Given the description of an element on the screen output the (x, y) to click on. 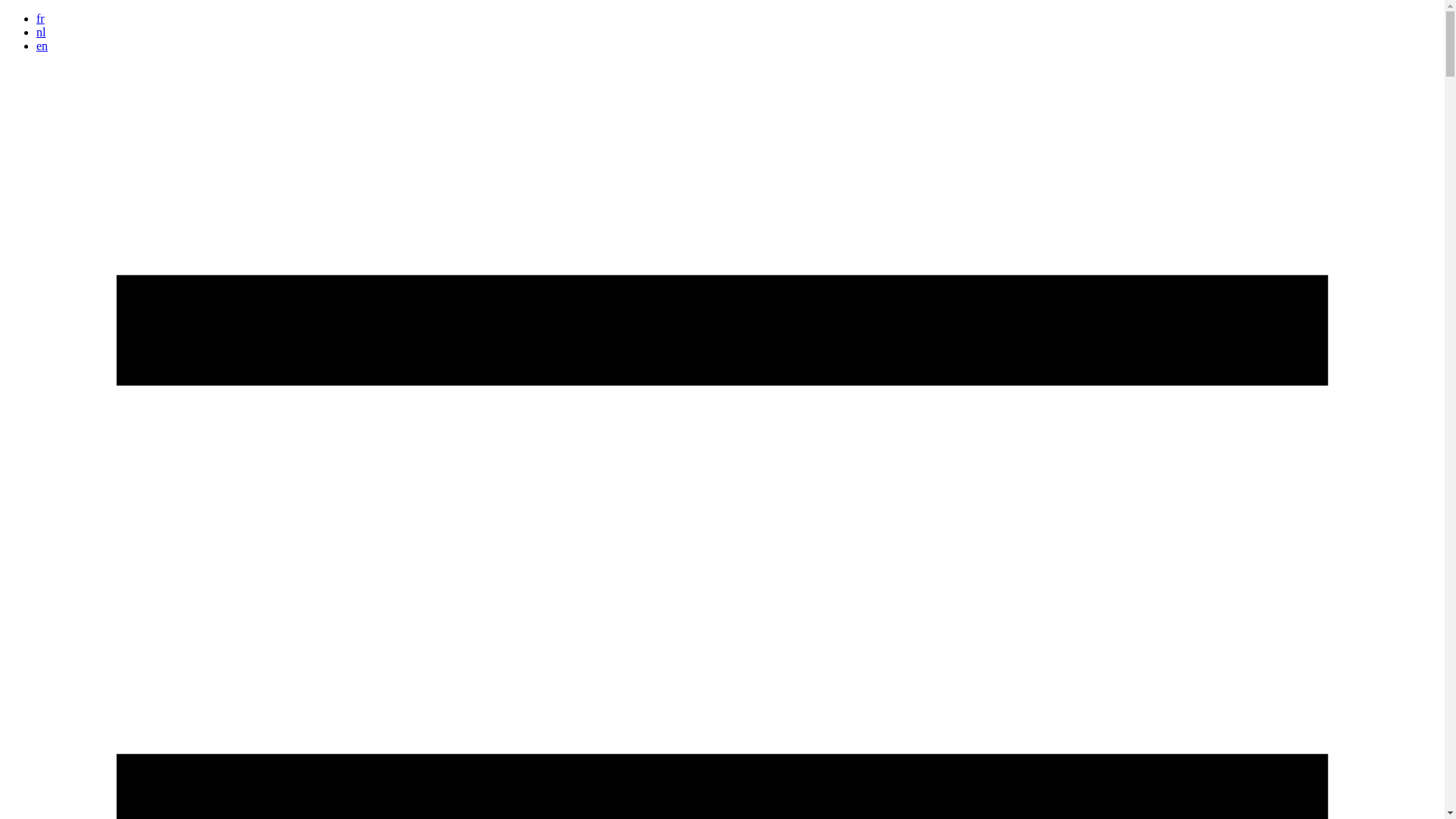
en Element type: text (41, 45)
nl Element type: text (40, 31)
fr Element type: text (40, 18)
